Given the description of an element on the screen output the (x, y) to click on. 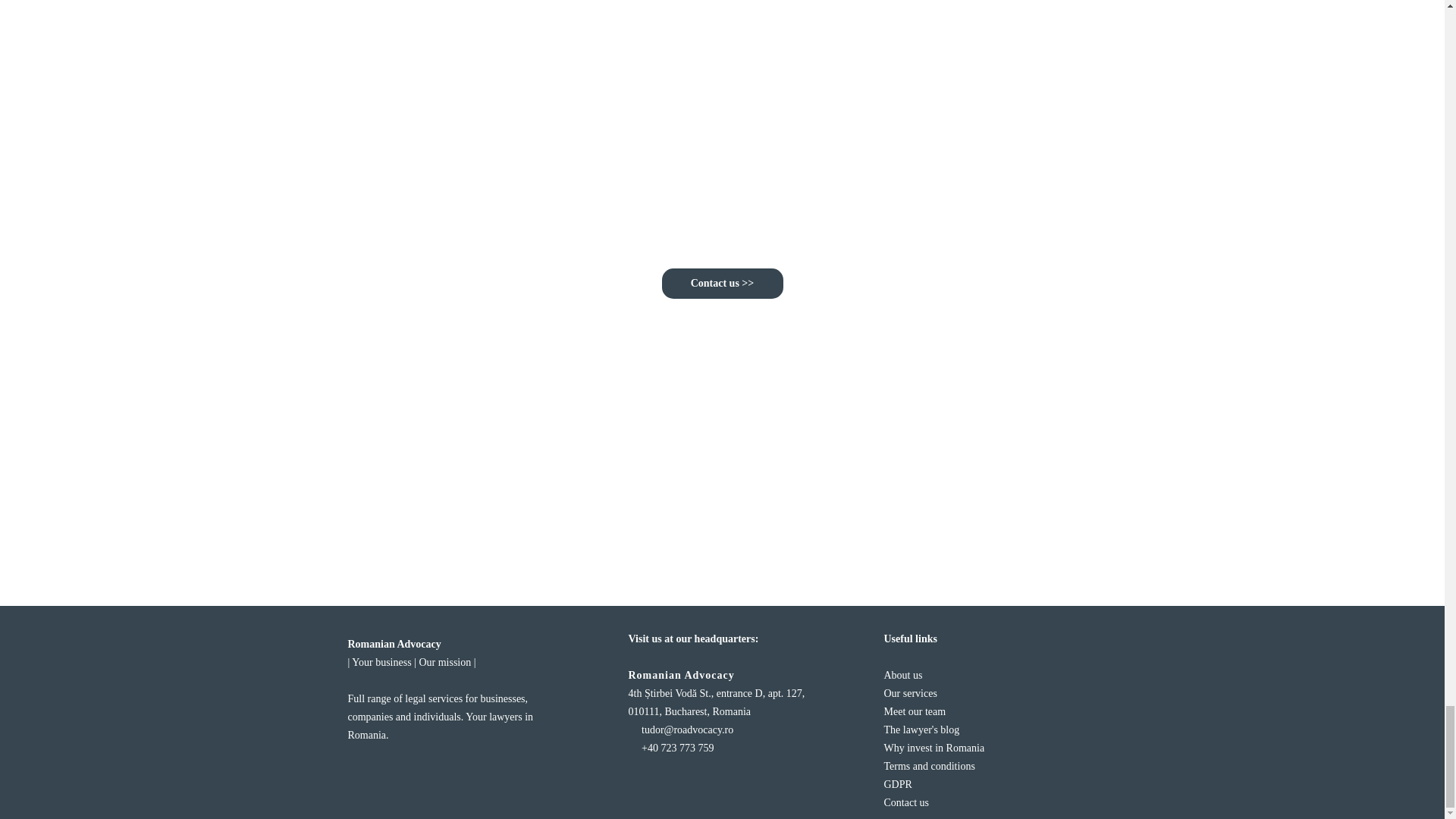
Why invest in Romania (934, 747)
Contact us (906, 802)
About us (903, 674)
Our services (910, 693)
The lawyer's blog (921, 729)
Meet our team (914, 711)
